Given the description of an element on the screen output the (x, y) to click on. 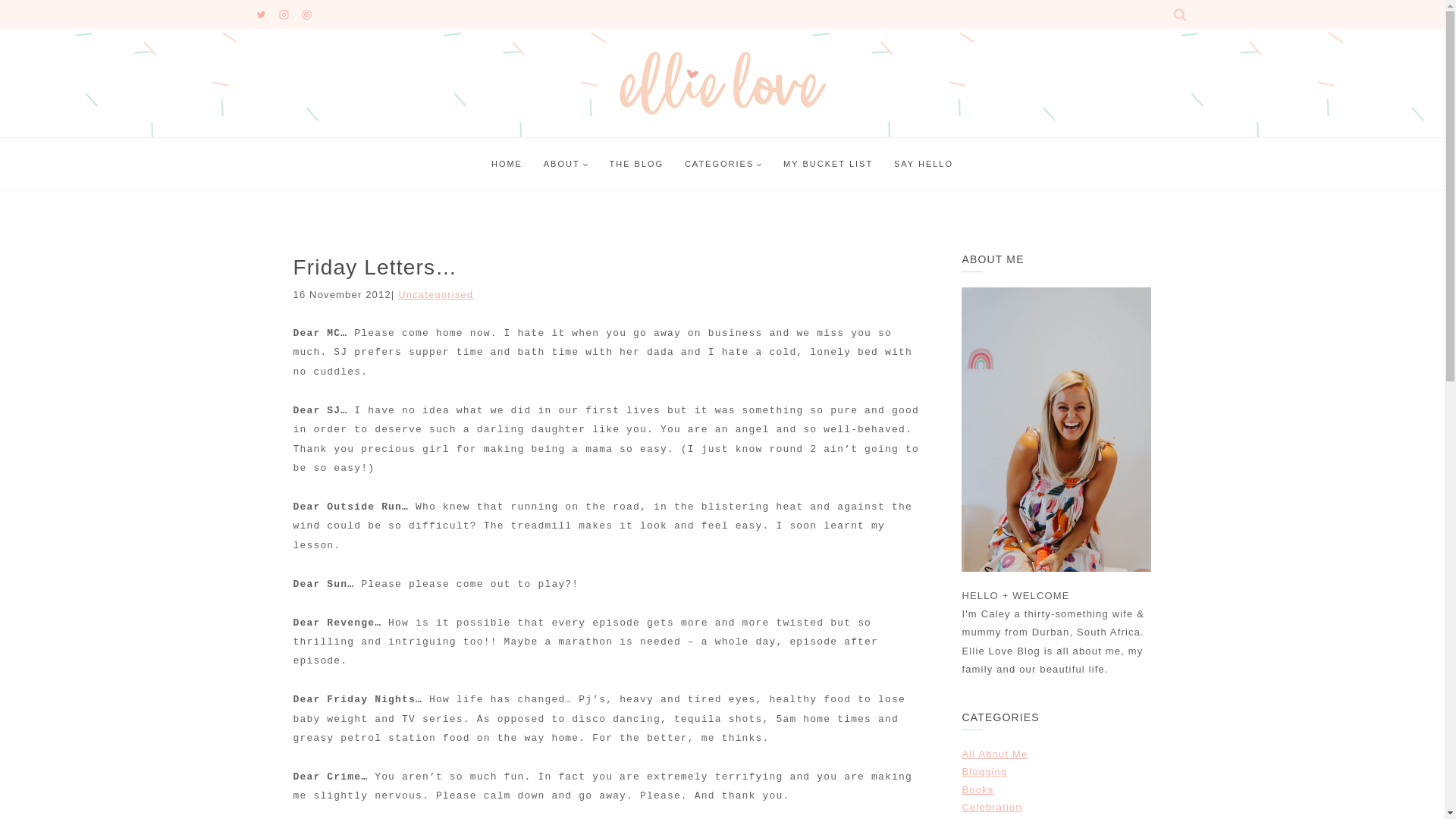
Books (976, 789)
Celebration (991, 807)
CATEGORIES (723, 163)
All About Me (993, 754)
ABOUT (565, 163)
HOME (506, 163)
THE BLOG (636, 163)
Uncategorised (435, 293)
Blogging (983, 771)
SAY HELLO (923, 163)
MY BUCKET LIST (828, 163)
